Given the description of an element on the screen output the (x, y) to click on. 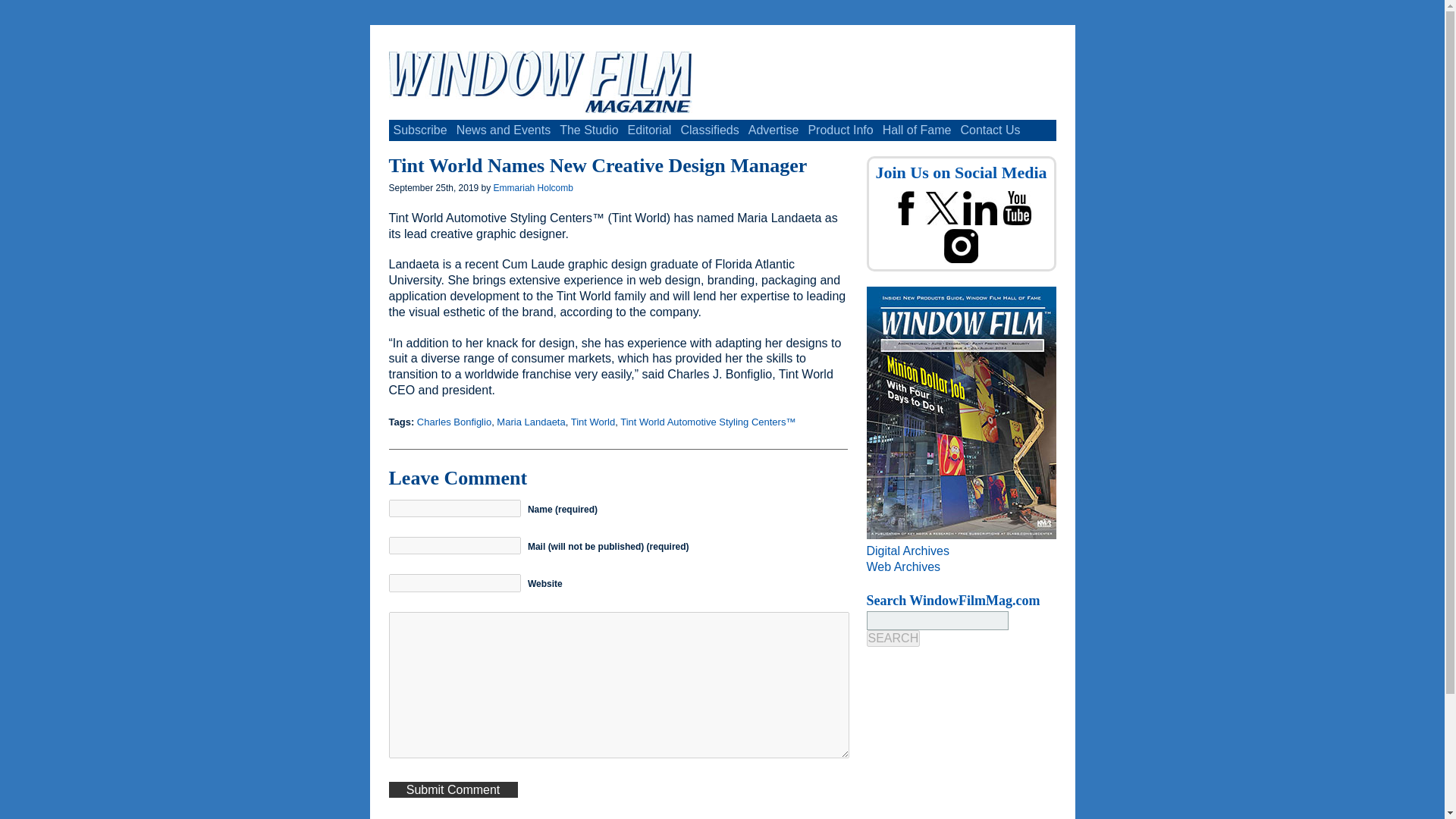
Subscribe (419, 129)
Emmariah Holcomb (533, 187)
Editorial (650, 129)
Advertise (773, 129)
Tint World (592, 421)
Submit Comment (452, 789)
SEARCH (893, 638)
The Studio (588, 129)
Hall of Fame (916, 129)
Charles Bonfiglio (454, 421)
